Given the description of an element on the screen output the (x, y) to click on. 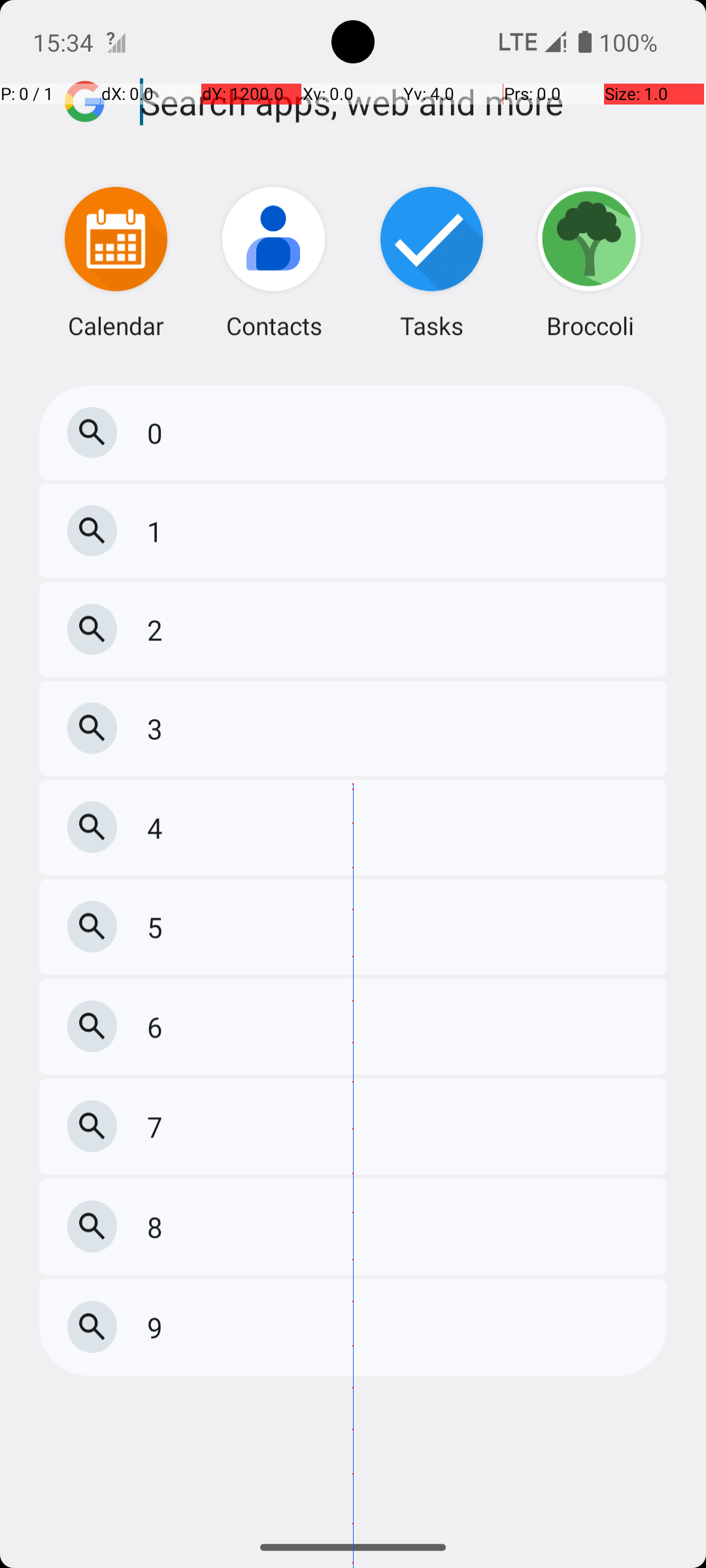
Search apps, web and more Element type: android.widget.EditText (403, 148)
